Given the description of an element on the screen output the (x, y) to click on. 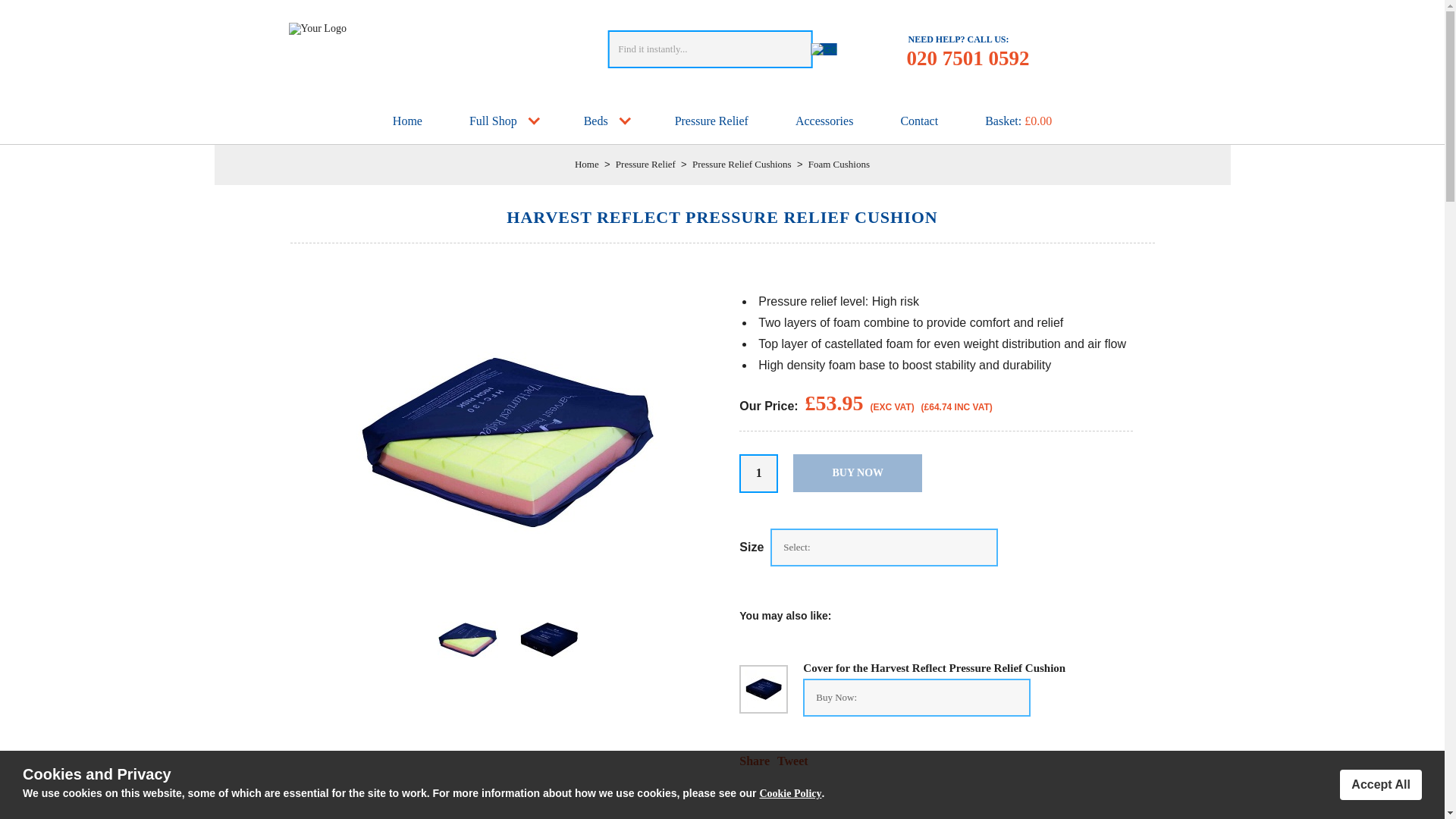
Harvest Reflect Pressure Relief Cushion (507, 590)
Home (586, 163)
Tweet (792, 760)
Share (754, 760)
Browse Our Full Range of Hospital Beds (605, 120)
Zoom (763, 689)
Pressure Relief Cushions (742, 163)
1 (758, 473)
Pressure Relief (645, 163)
Go (823, 49)
